Given the description of an element on the screen output the (x, y) to click on. 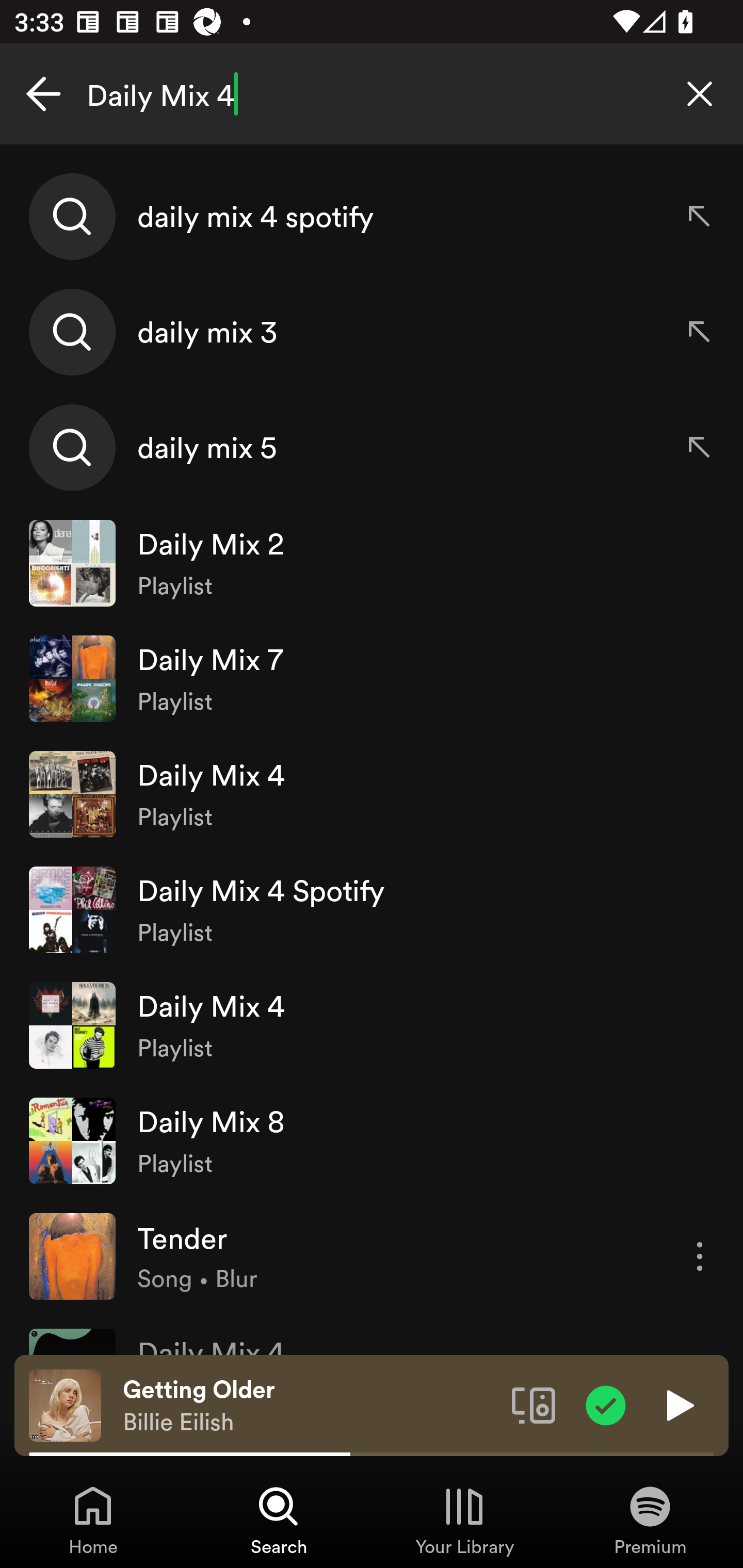
Daily Mix 4 (371, 93)
Cancel (43, 93)
Clear search query (699, 93)
daily mix 4 spotify (371, 216)
daily mix 3 (371, 332)
daily mix 5 (371, 447)
Daily Mix 2 Playlist (371, 562)
Daily Mix 7 Playlist (371, 678)
Daily Mix 4 Playlist (371, 793)
Daily Mix 4 Spotify Playlist (371, 909)
Daily Mix 4 Playlist (371, 1025)
Daily Mix 8 Playlist (371, 1140)
Tender Song • Blur More options for song Tender (371, 1255)
More options for song Tender (699, 1256)
Getting Older Billie Eilish (309, 1405)
The cover art of the currently playing track (64, 1404)
